Given the description of an element on the screen output the (x, y) to click on. 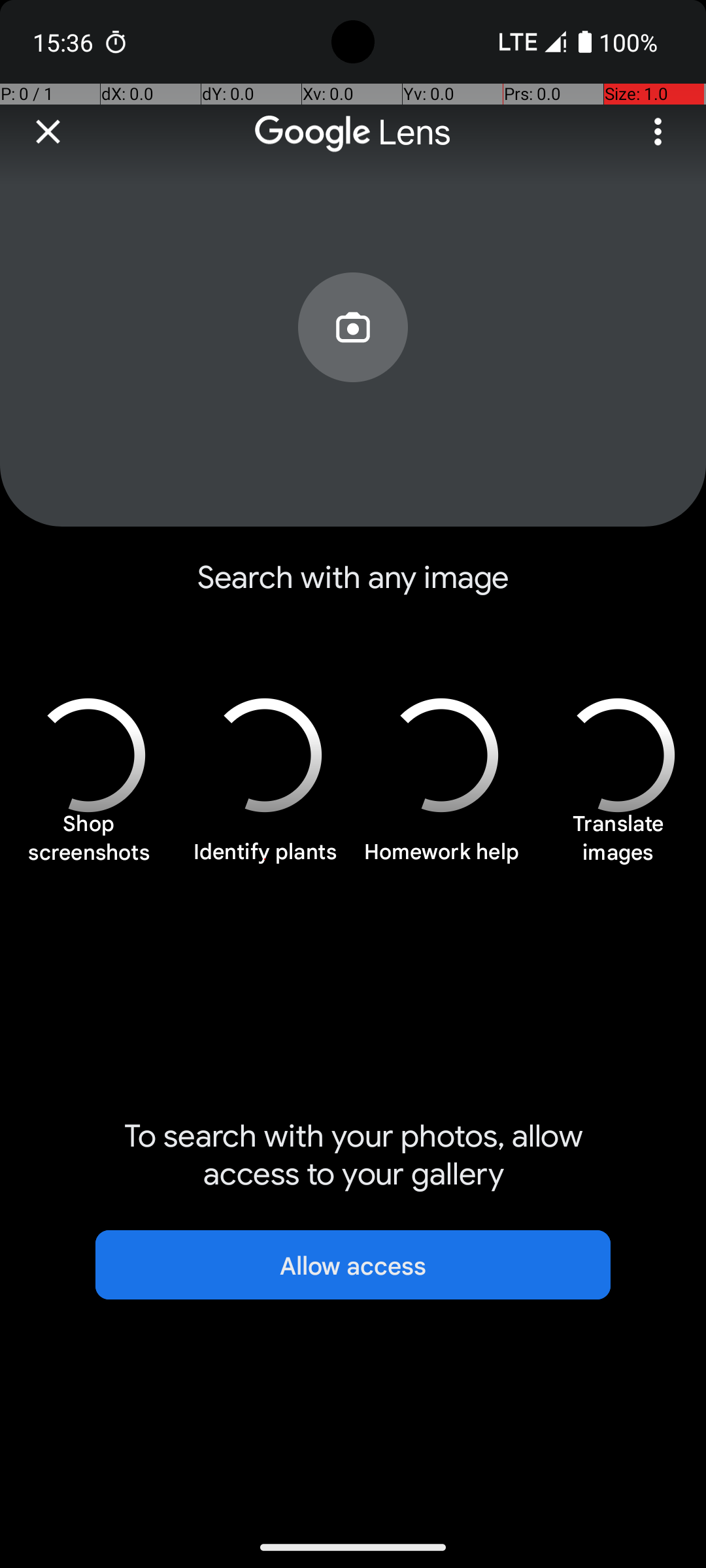
Search with your camera Element type: android.widget.FrameLayout (353, 356)
Search with any image Element type: android.widget.TextView (353, 587)
Shop screenshots Element type: android.widget.TextView (88, 844)
Identify plants Element type: android.widget.TextView (264, 858)
Homework help Element type: android.widget.TextView (441, 858)
Translate images Element type: android.widget.TextView (617, 844)
To search with your photos, allow access to your gallery Element type: android.widget.TextView (352, 1154)
Allow access Element type: android.widget.Button (352, 1264)
15:36 Element type: android.widget.TextView (64, 41)
